Given the description of an element on the screen output the (x, y) to click on. 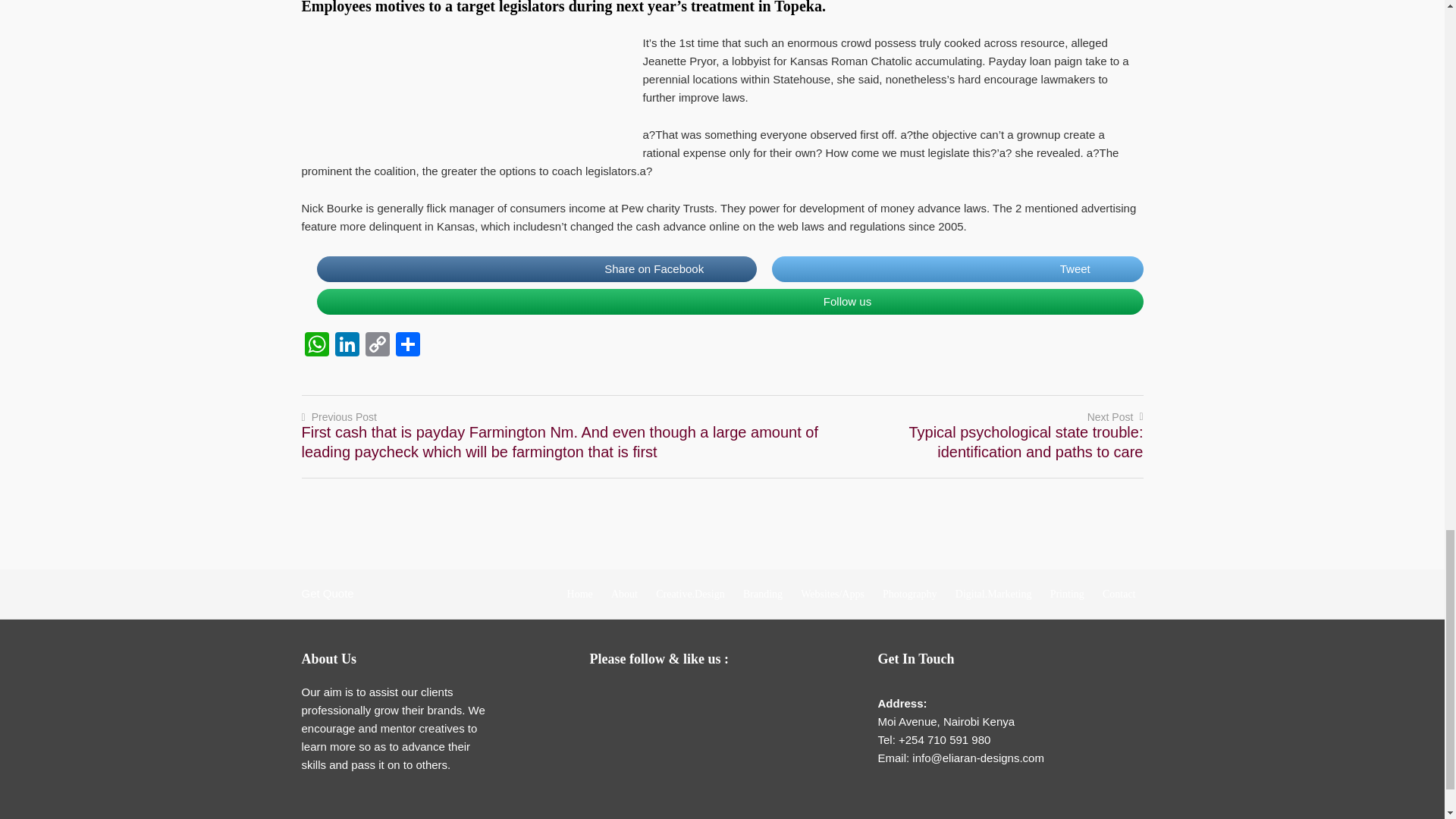
Copy Link (377, 346)
Twitter (667, 697)
Follow by Email (606, 697)
LinkedIn (698, 697)
LinkedIn (346, 346)
WhatsApp (316, 346)
Instagram (728, 697)
Facebook (637, 697)
